Given the description of an element on the screen output the (x, y) to click on. 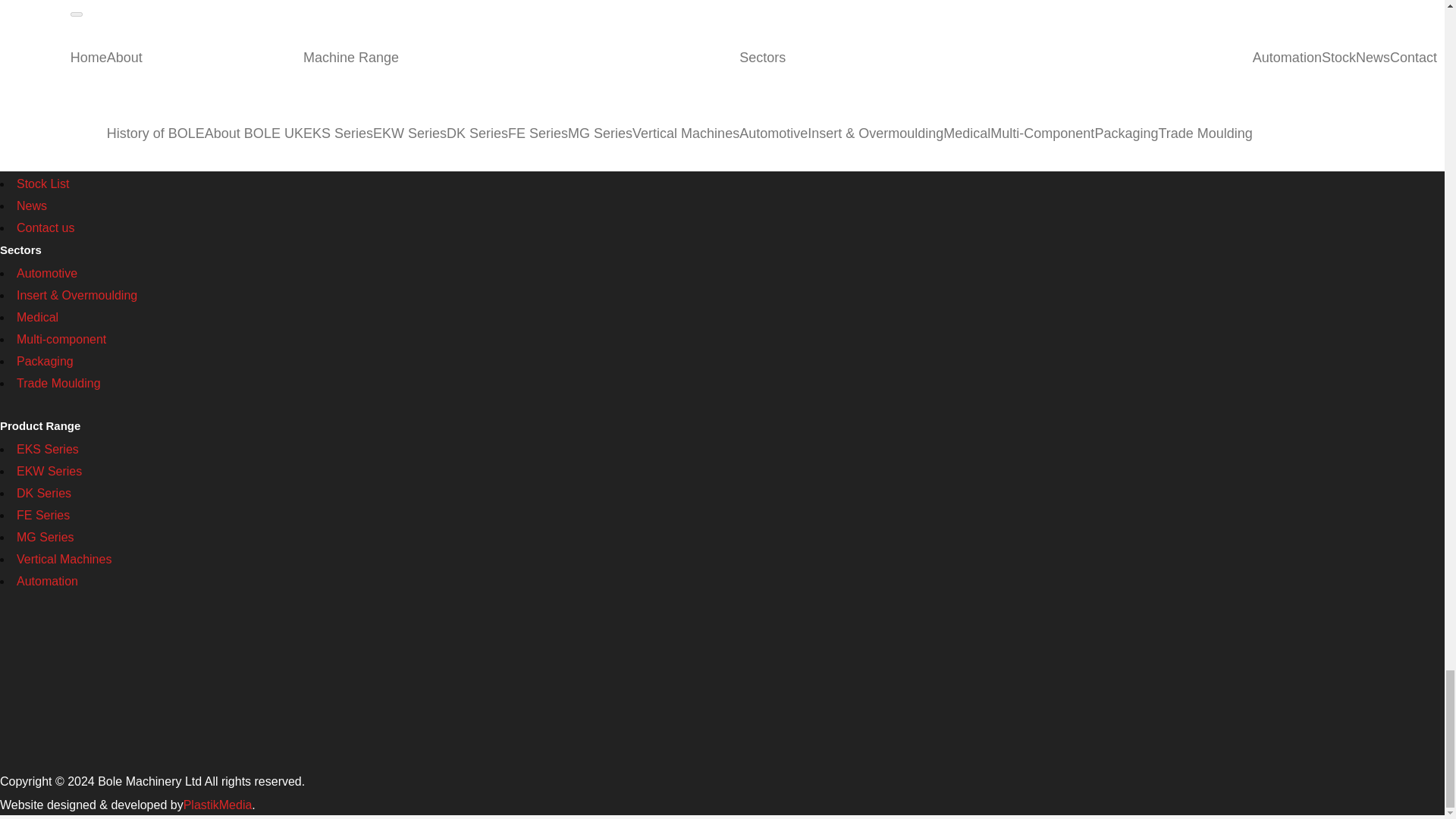
About BOLE UK (60, 139)
Automotive (46, 273)
News (31, 205)
History of BOLE (59, 161)
Homepage (32, 117)
Contact us (45, 227)
LinkedIn (36, 45)
